Given the description of an element on the screen output the (x, y) to click on. 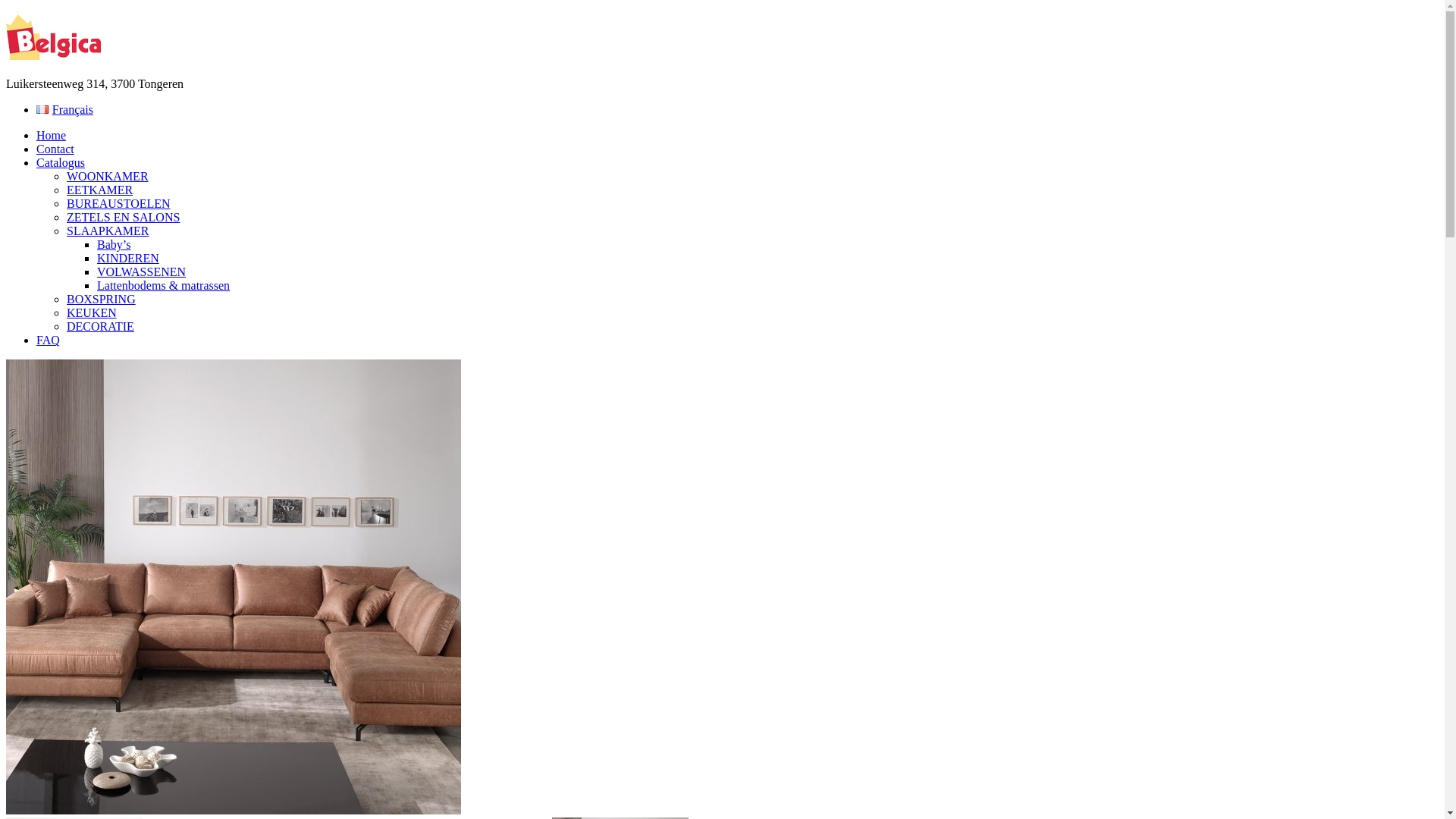
FAQ Element type: text (47, 339)
KEUKEN Element type: text (91, 312)
Lattenbodems & matrassen Element type: text (163, 285)
EETKAMER Element type: text (99, 189)
Catalogus Element type: text (60, 162)
BOXSPRING Element type: text (100, 298)
KINDEREN Element type: text (128, 257)
ZETELS EN SALONS Element type: text (122, 216)
SLAAPKAMER Element type: text (107, 230)
WOONKAMER Element type: text (107, 175)
VOLWASSENEN Element type: text (141, 271)
Contact Element type: text (55, 148)
BUREAUSTOELEN Element type: text (118, 203)
Home Element type: text (50, 134)
Meer dan ooit de goedkoopste Element type: hover (53, 36)
DECORATIE Element type: text (100, 326)
